Given the description of an element on the screen output the (x, y) to click on. 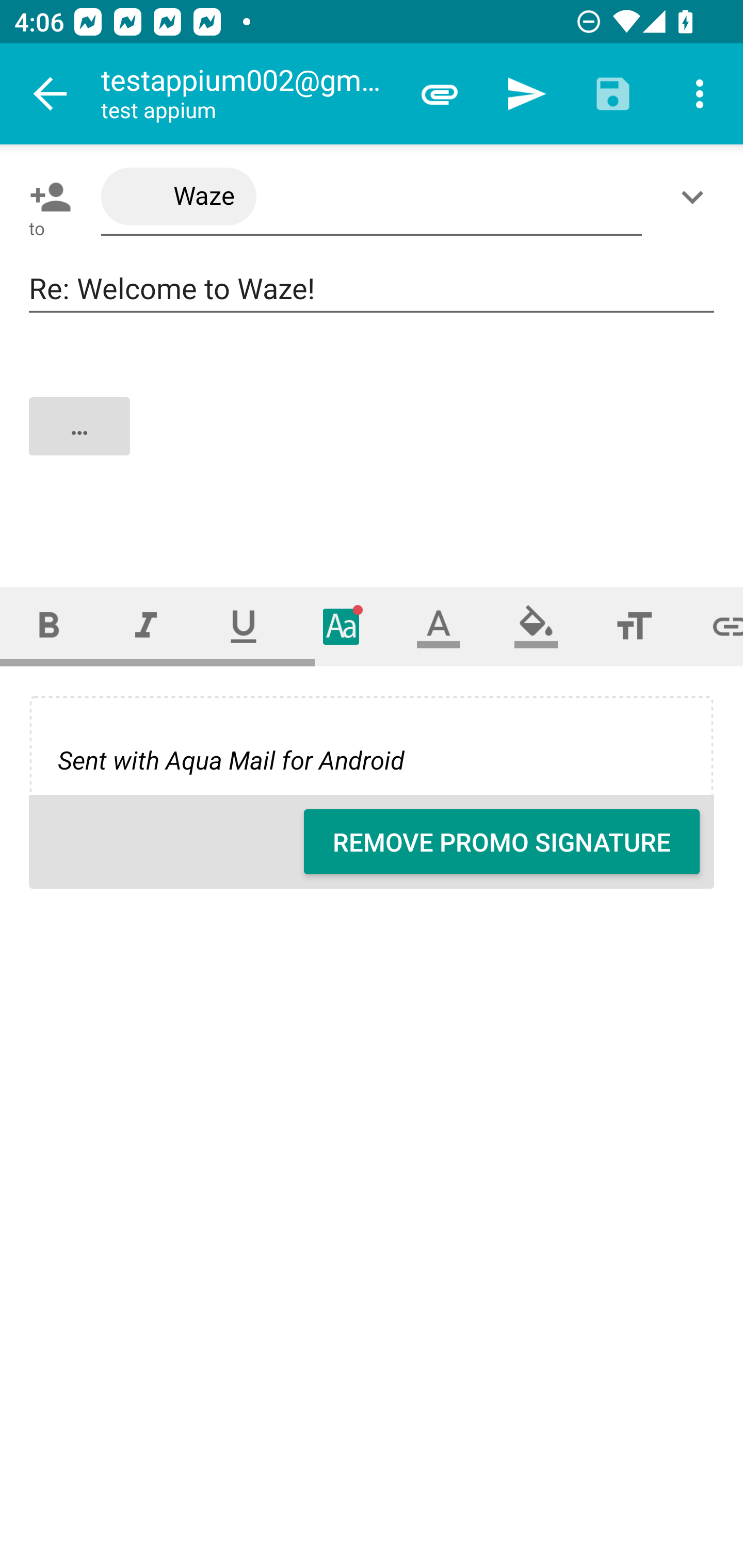
Navigate up (50, 93)
testappium002@gmail.com test appium (248, 93)
Attach (439, 93)
Send (525, 93)
Save (612, 93)
More options (699, 93)
Waze <noreply@waze.com>,  (371, 197)
Pick contact: To (46, 196)
Show/Add CC/BCC (696, 196)
Re: Welcome to Waze! (371, 288)

…
 (372, 442)
Bold (48, 626)
Italic (145, 626)
Underline (243, 626)
Typeface (font) (341, 626)
Text color (438, 626)
Fill color (536, 626)
Font size (633, 626)
REMOVE PROMO SIGNATURE (501, 841)
